Given the description of an element on the screen output the (x, y) to click on. 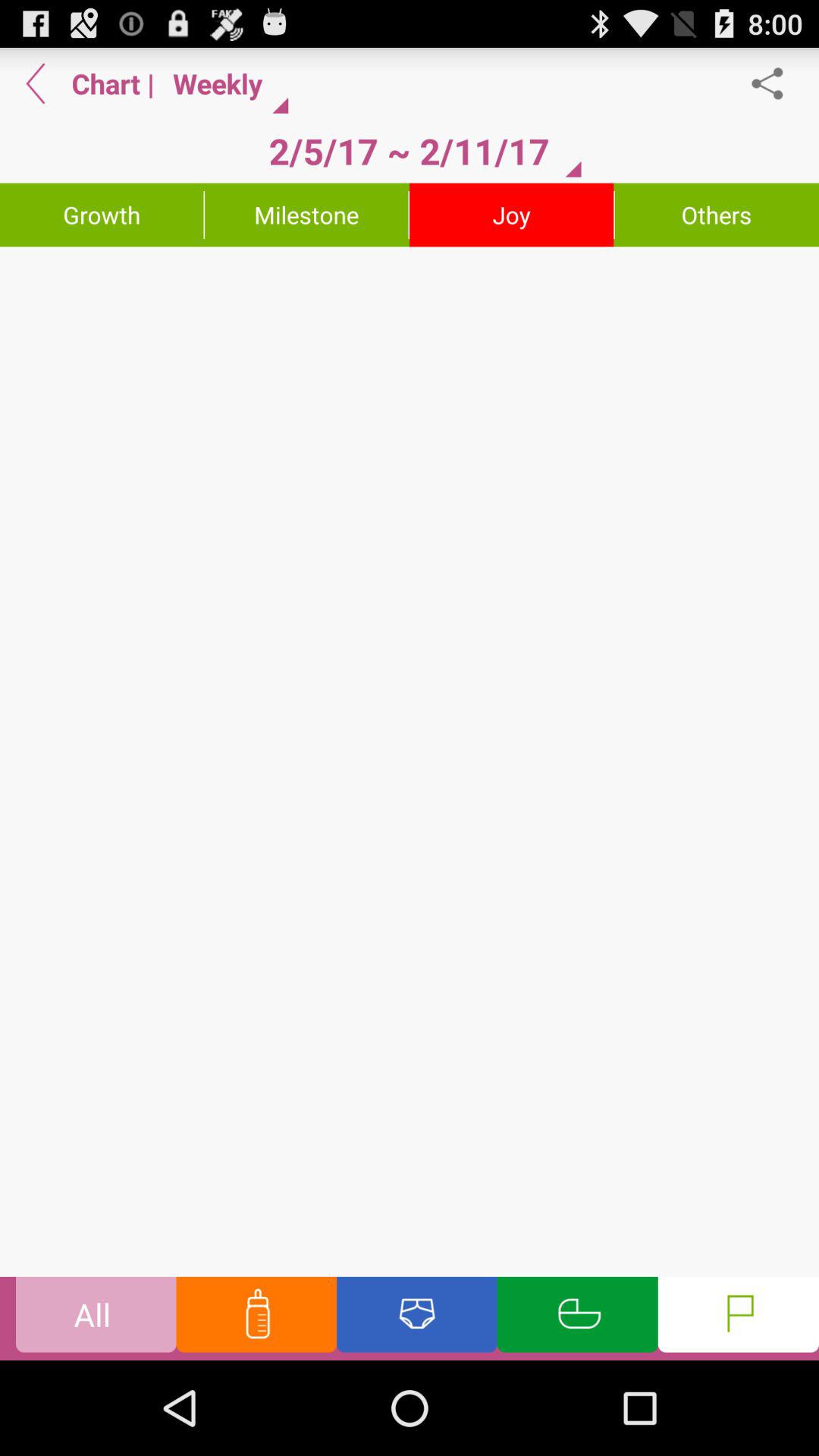
turn off the growth button (101, 214)
